Given the description of an element on the screen output the (x, y) to click on. 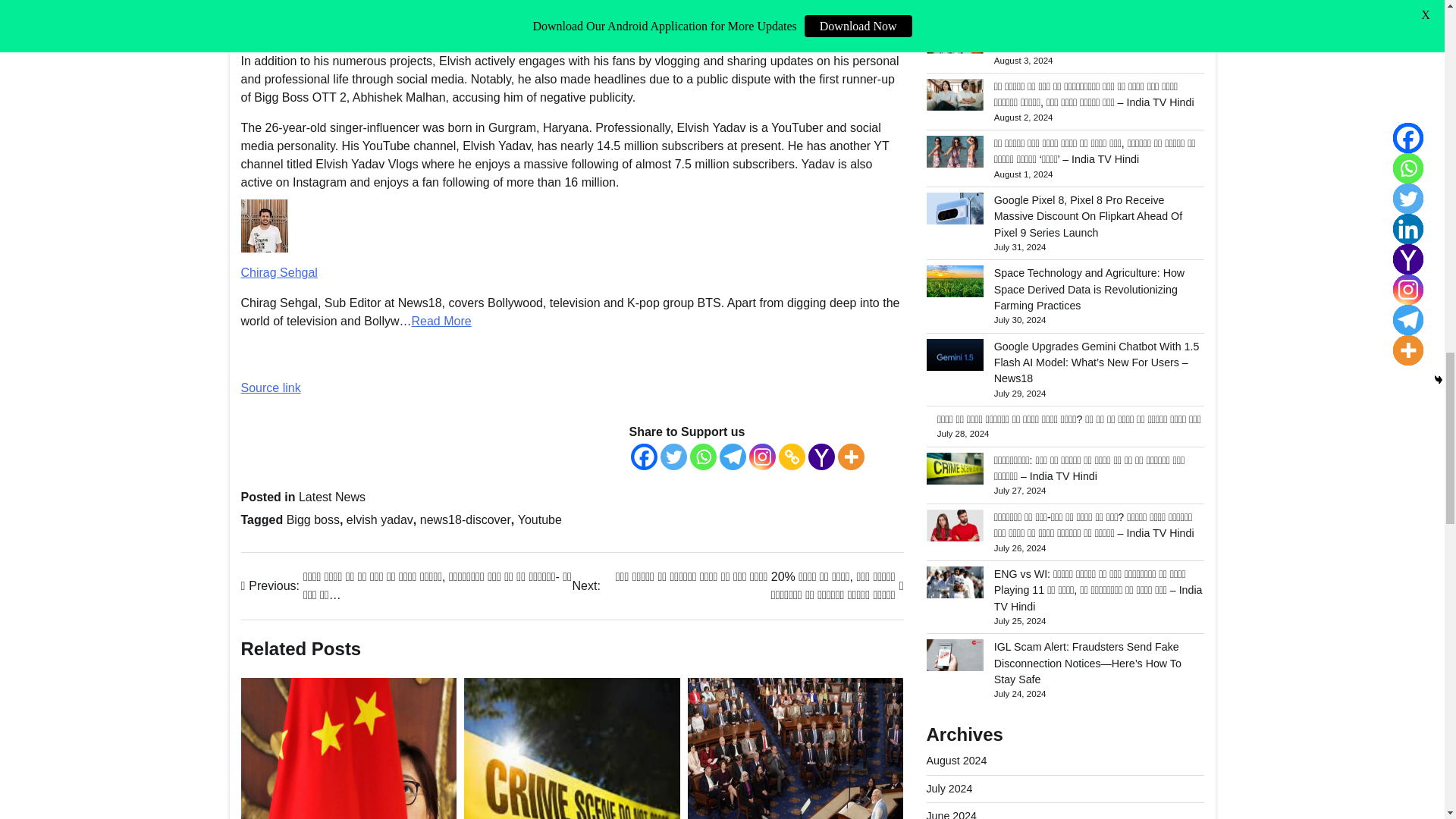
Facebook (644, 456)
Chirag Sehgal (279, 272)
Whatsapp (703, 456)
Twitter (672, 456)
Source link (271, 387)
Latest News (331, 496)
Bigg boss (312, 519)
Read More (440, 320)
